Given the description of an element on the screen output the (x, y) to click on. 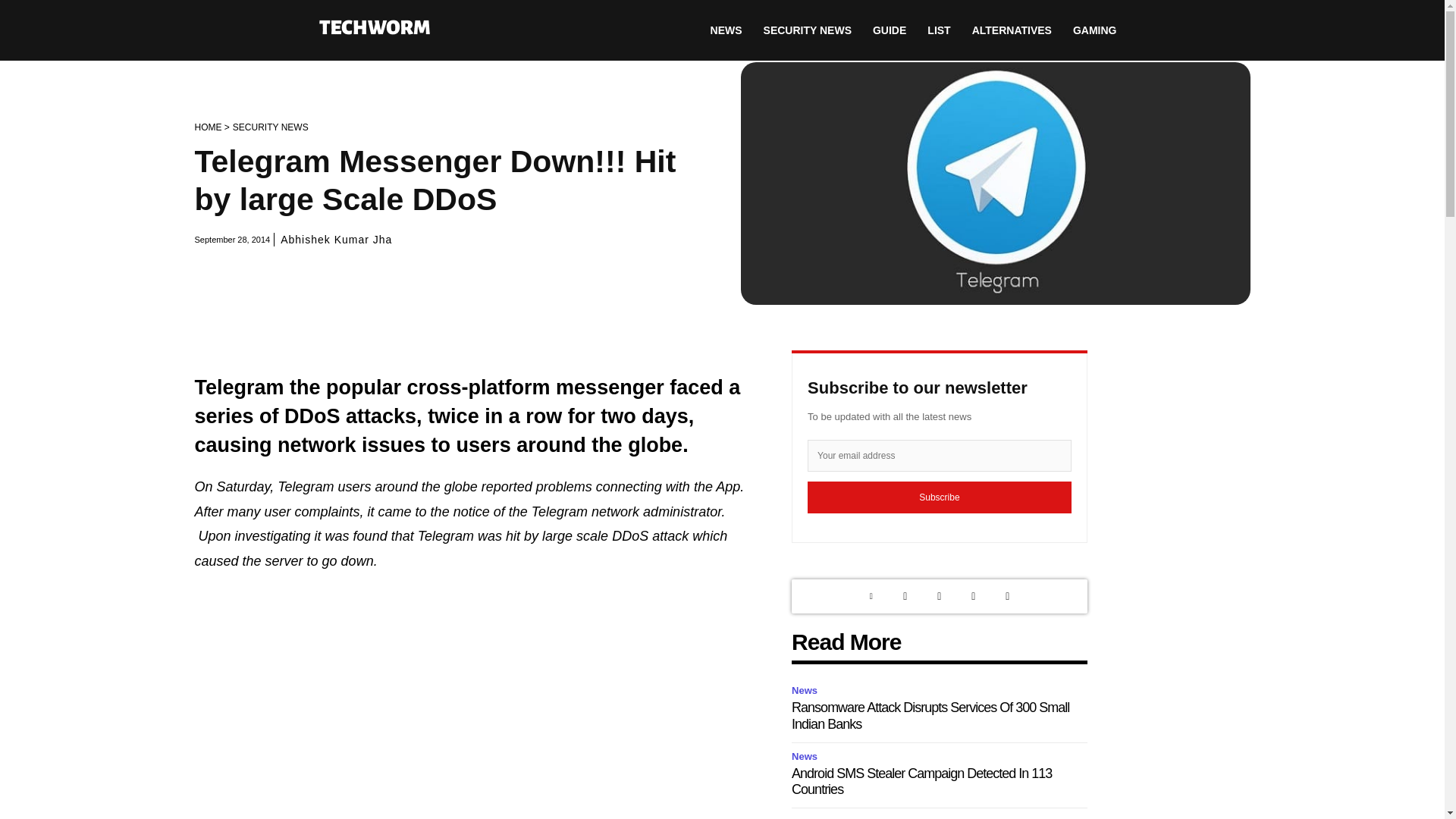
SECURITY NEWS (806, 30)
ALTERNATIVES (1011, 30)
View all posts in Security news (270, 127)
Twitter (904, 596)
News (807, 756)
Android SMS Stealer Campaign Detected In 113 Countries (921, 781)
Abhishek Kumar Jha (336, 239)
Facebook (973, 596)
Telegram Messenger Down!!! Hit by large Scale DDOS  (994, 183)
Linkedin (870, 596)
Subscribe (939, 497)
Youtube (1007, 596)
News (807, 691)
GAMING (1094, 30)
